Given the description of an element on the screen output the (x, y) to click on. 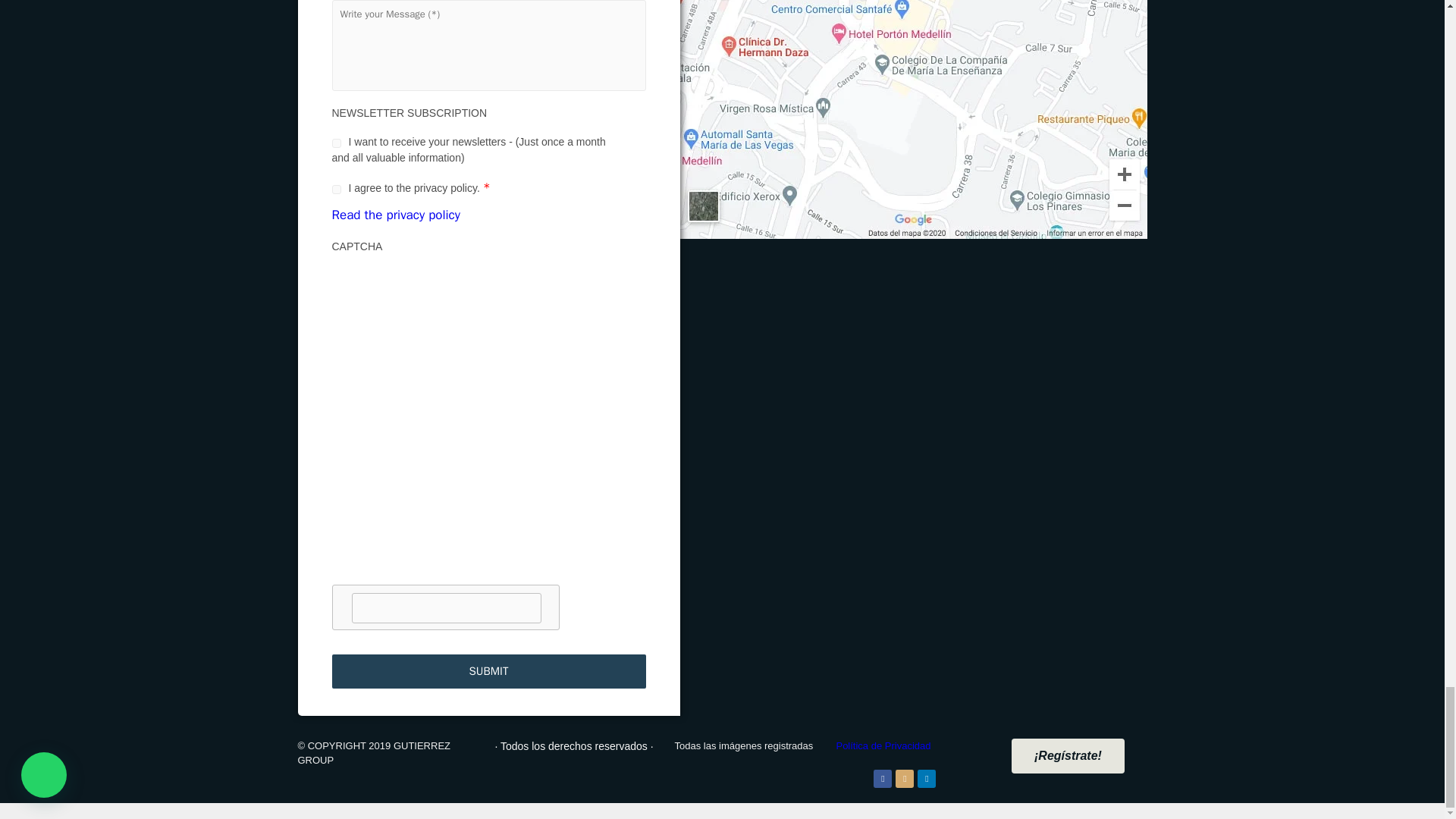
Submit (488, 671)
Read the privacy policy (395, 214)
Submit (488, 671)
